Given the description of an element on the screen output the (x, y) to click on. 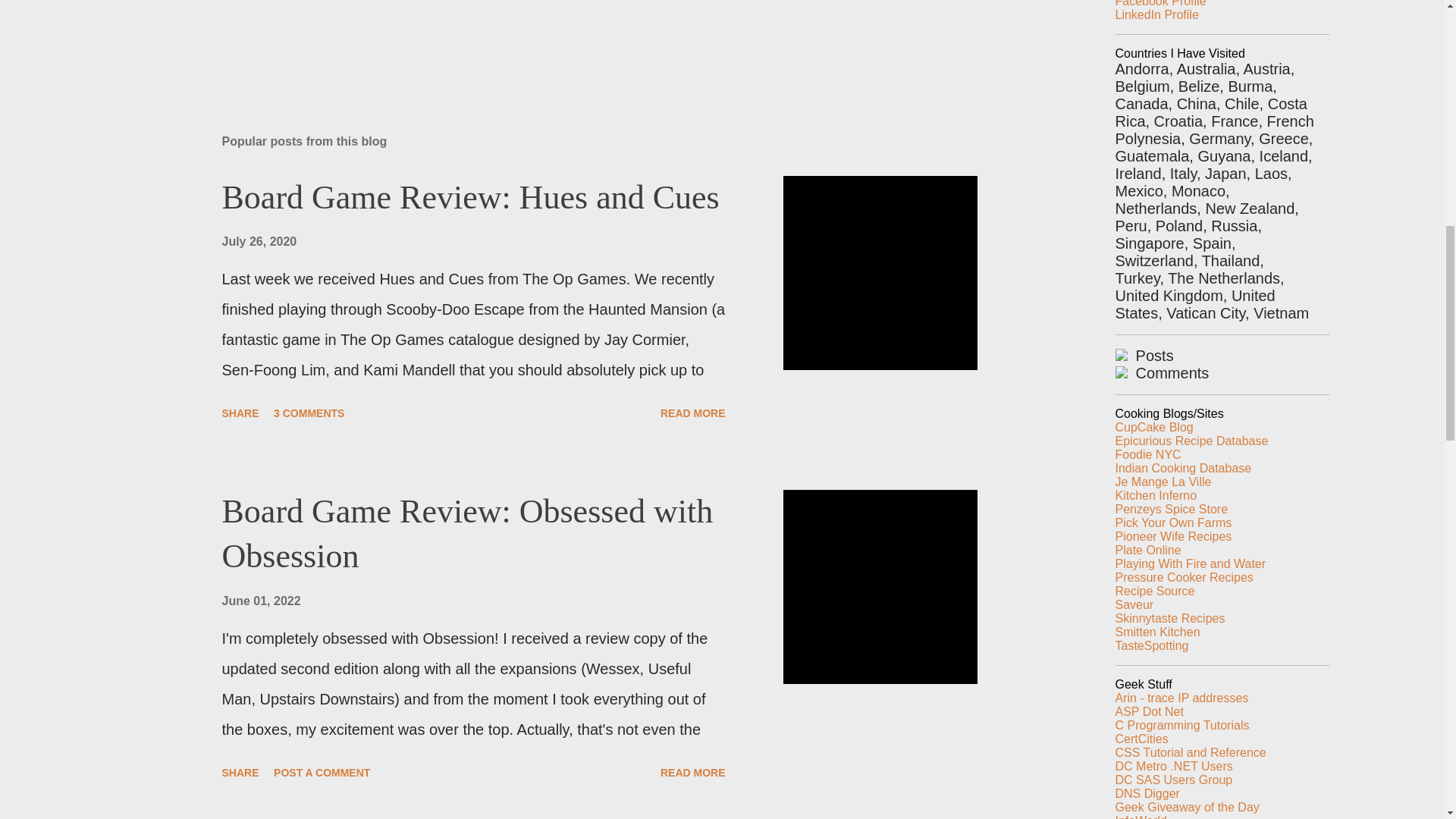
POST A COMMENT (321, 772)
READ MORE (692, 413)
Board Game Review: Hues and Cues (470, 197)
July 26, 2020 (259, 241)
READ MORE (692, 772)
June 01, 2022 (260, 600)
SHARE (239, 772)
Board Game Review: Obsessed with Obsession (467, 533)
3 COMMENTS (308, 413)
SHARE (239, 413)
